Given the description of an element on the screen output the (x, y) to click on. 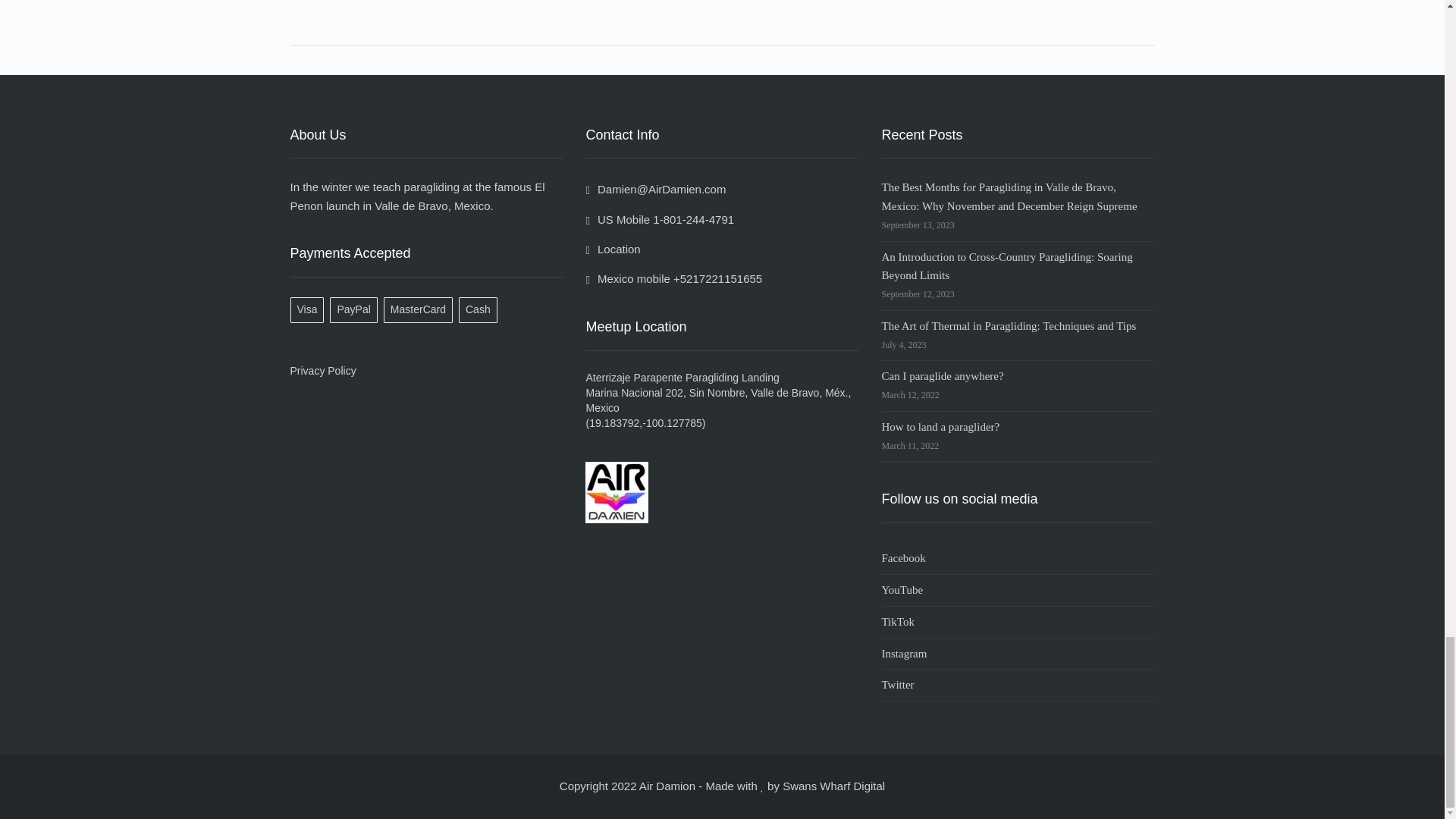
TikTok (1017, 622)
Twitter (1017, 685)
YouTube (1017, 590)
Instagram (1017, 654)
Location (612, 248)
Privacy Policy (322, 370)
Swans Wharf Digital (834, 785)
How to land a paraglider? (939, 426)
Can I paraglide anywhere? (941, 376)
